Given the description of an element on the screen output the (x, y) to click on. 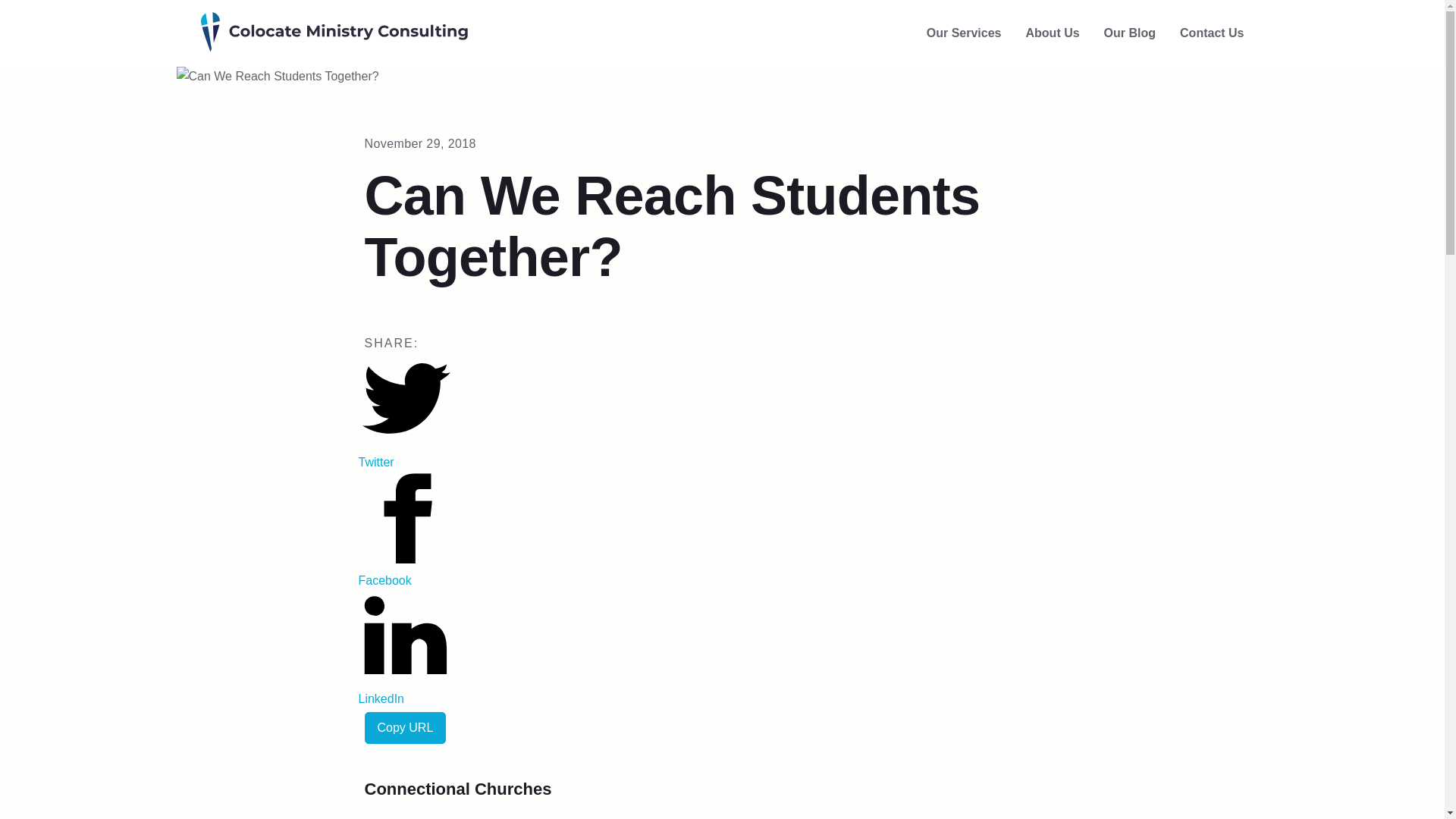
Copy URL (404, 727)
About Us (1051, 32)
Contact Us (1211, 32)
Our Blog (1129, 32)
About Us (1051, 32)
Our Services (963, 32)
Our Blog (1129, 32)
Our Services (963, 32)
Contact Us (1211, 32)
